Given the description of an element on the screen output the (x, y) to click on. 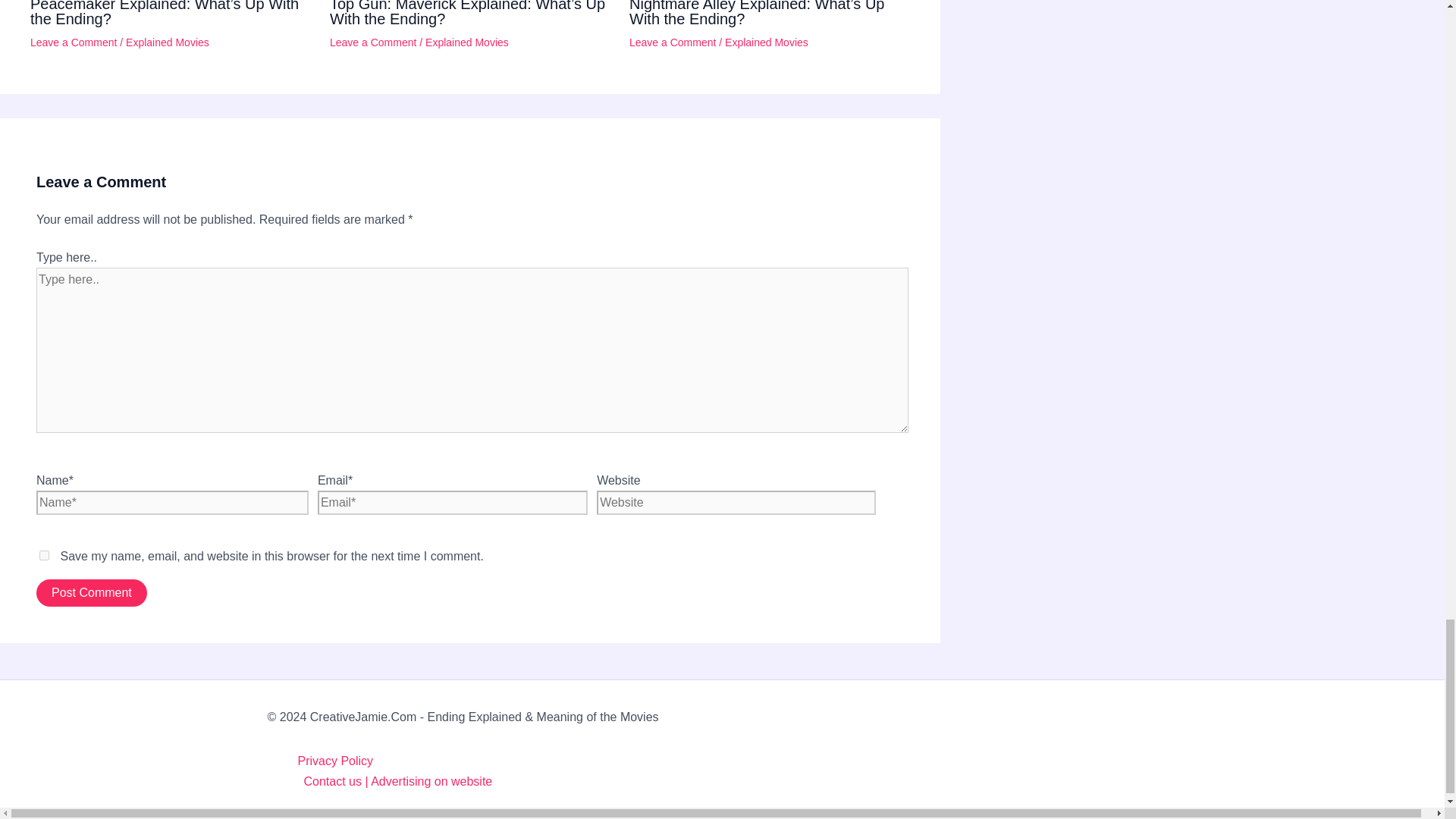
Explained Movies (466, 42)
Post Comment (91, 592)
Leave a Comment (373, 42)
Leave a Comment (73, 42)
Leave a Comment (672, 42)
Explained Movies (167, 42)
Explained Movies (766, 42)
yes (44, 555)
Post Comment (91, 592)
Privacy Policy (736, 761)
